Given the description of an element on the screen output the (x, y) to click on. 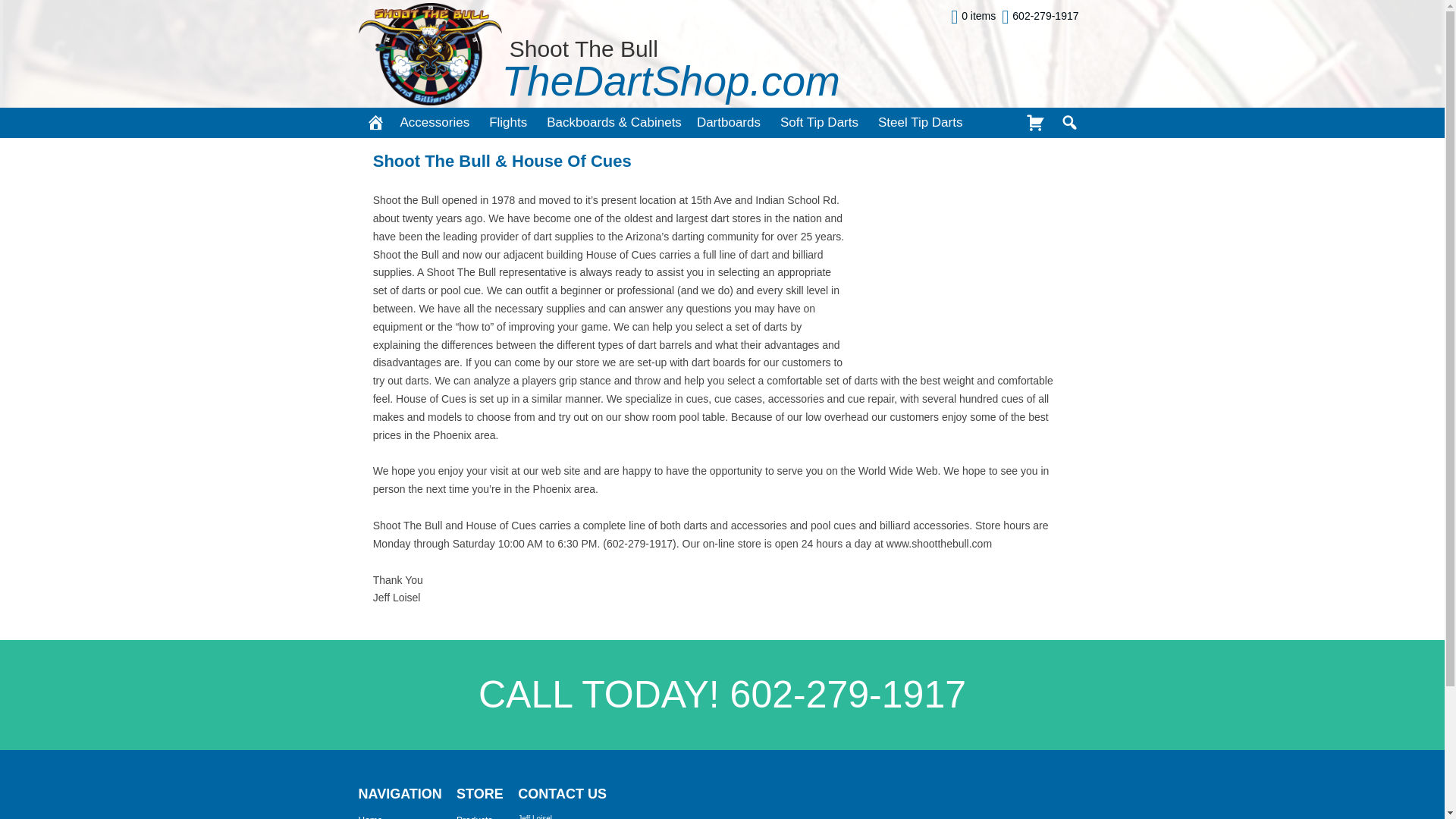
Call Us (1039, 16)
TheDartShop.com (671, 88)
Accessories (437, 122)
0 items (972, 16)
View your shopping cart (972, 16)
TheDartShop.com (671, 88)
602-279-1917 (1039, 16)
